Given the description of an element on the screen output the (x, y) to click on. 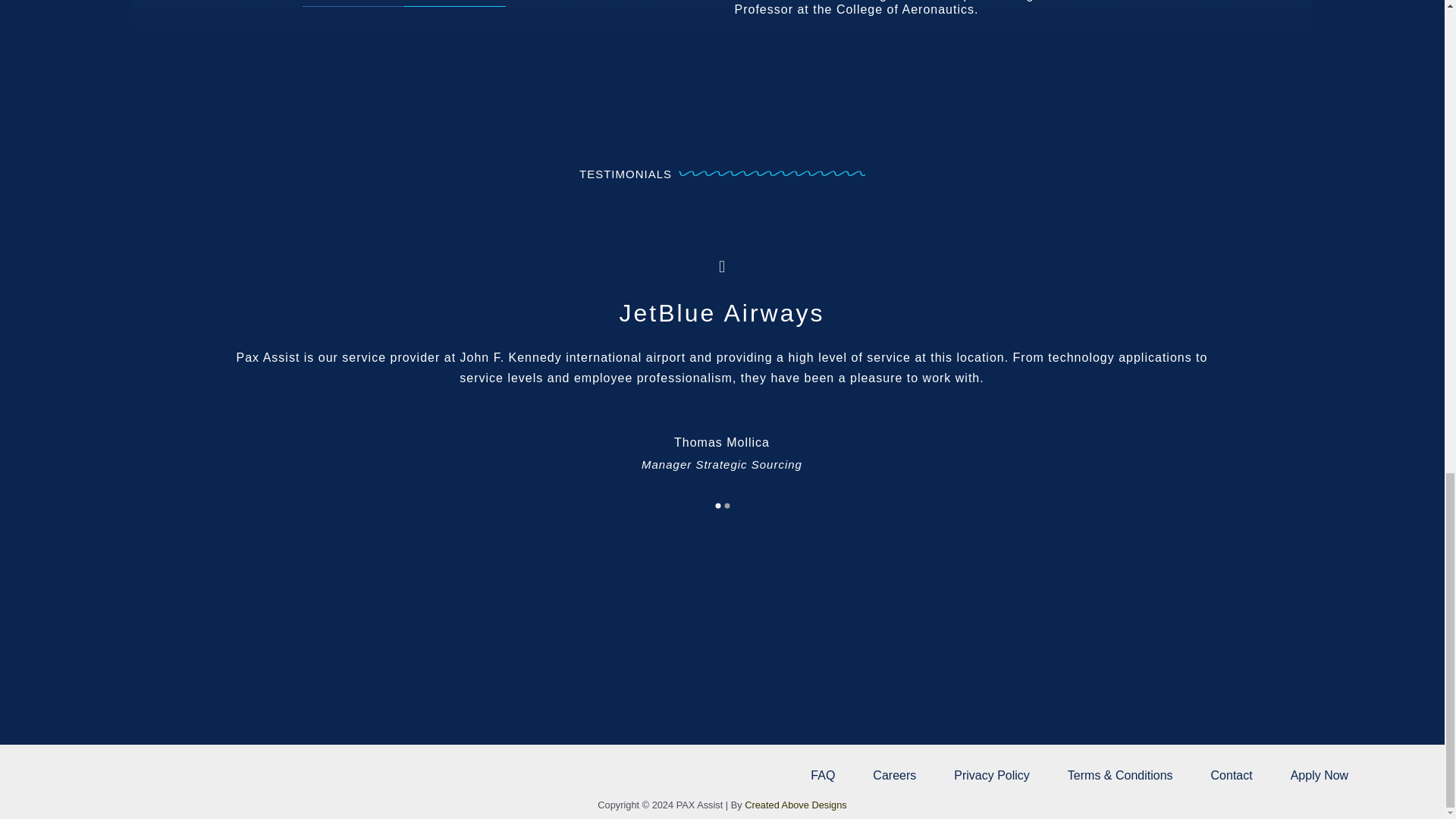
Page 1 (721, 377)
